Given the description of an element on the screen output the (x, y) to click on. 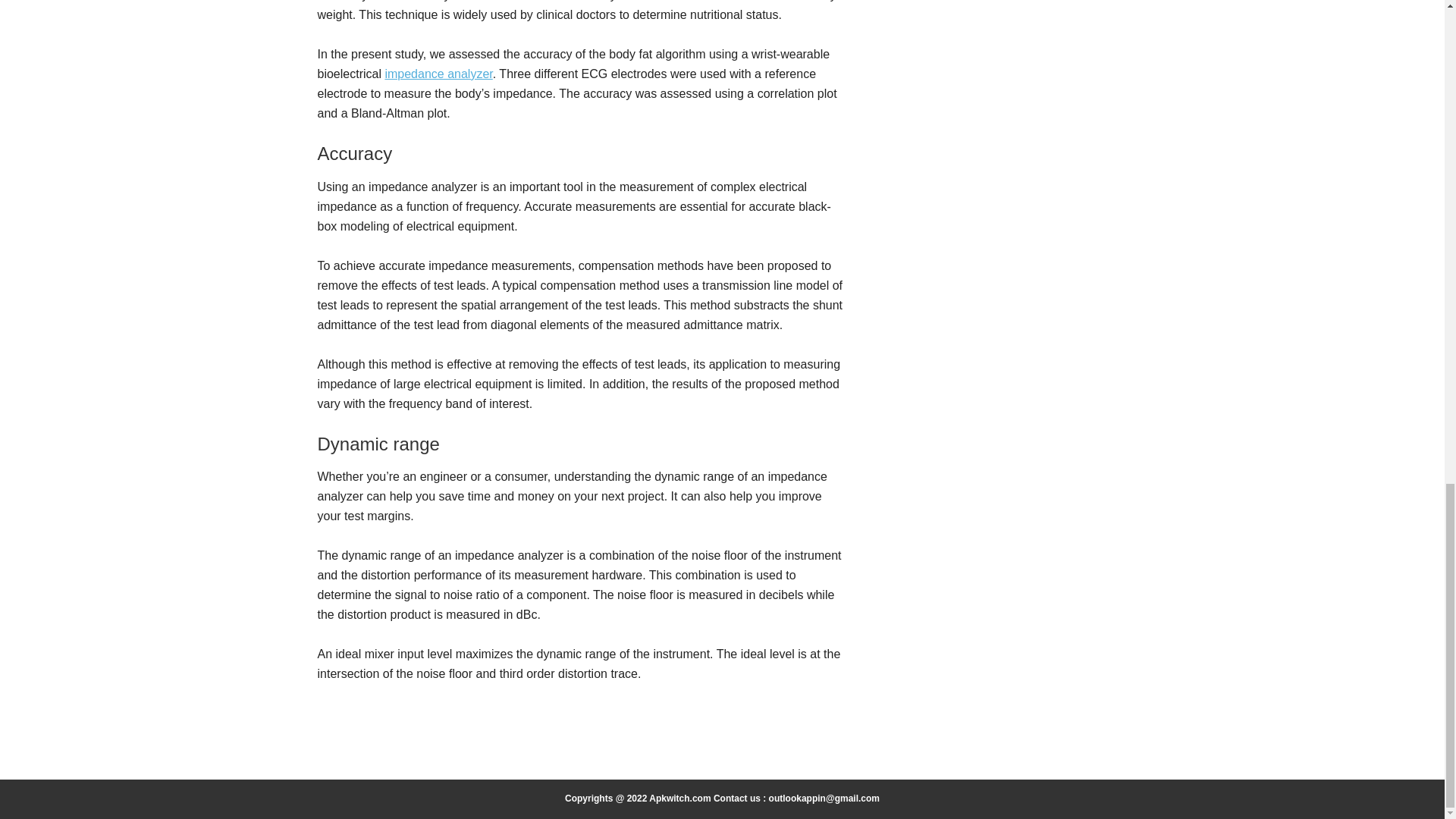
impedance analyzer (438, 73)
